Given the description of an element on the screen output the (x, y) to click on. 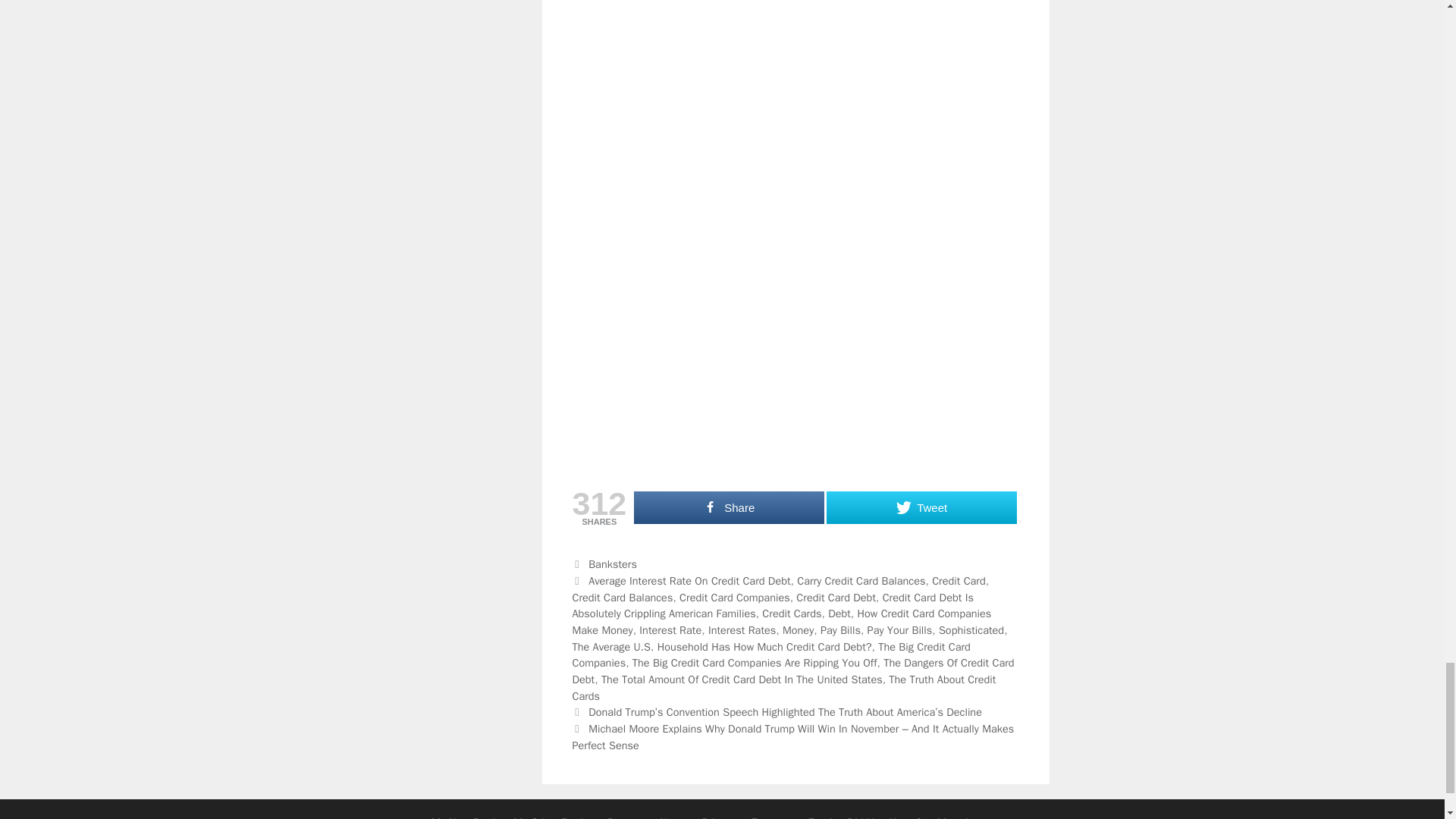
The Big Credit Card Companies (770, 654)
Share (728, 507)
Credit Card Debt Is Absolutely Crippling American Families (772, 605)
Money (798, 630)
Pay Bills (840, 630)
Debt (839, 612)
Next (792, 736)
Banksters (612, 563)
The Average U.S. Household Has How Much Credit Card Debt? (721, 646)
The Big Credit Card Companies Are Ripping You Off (754, 662)
The Dangers Of Credit Card Debt (792, 671)
Credit Card Companies (734, 597)
Pay Your Bills (900, 630)
Average Interest Rate On Credit Card Debt (689, 581)
Credit Card (958, 581)
